Given the description of an element on the screen output the (x, y) to click on. 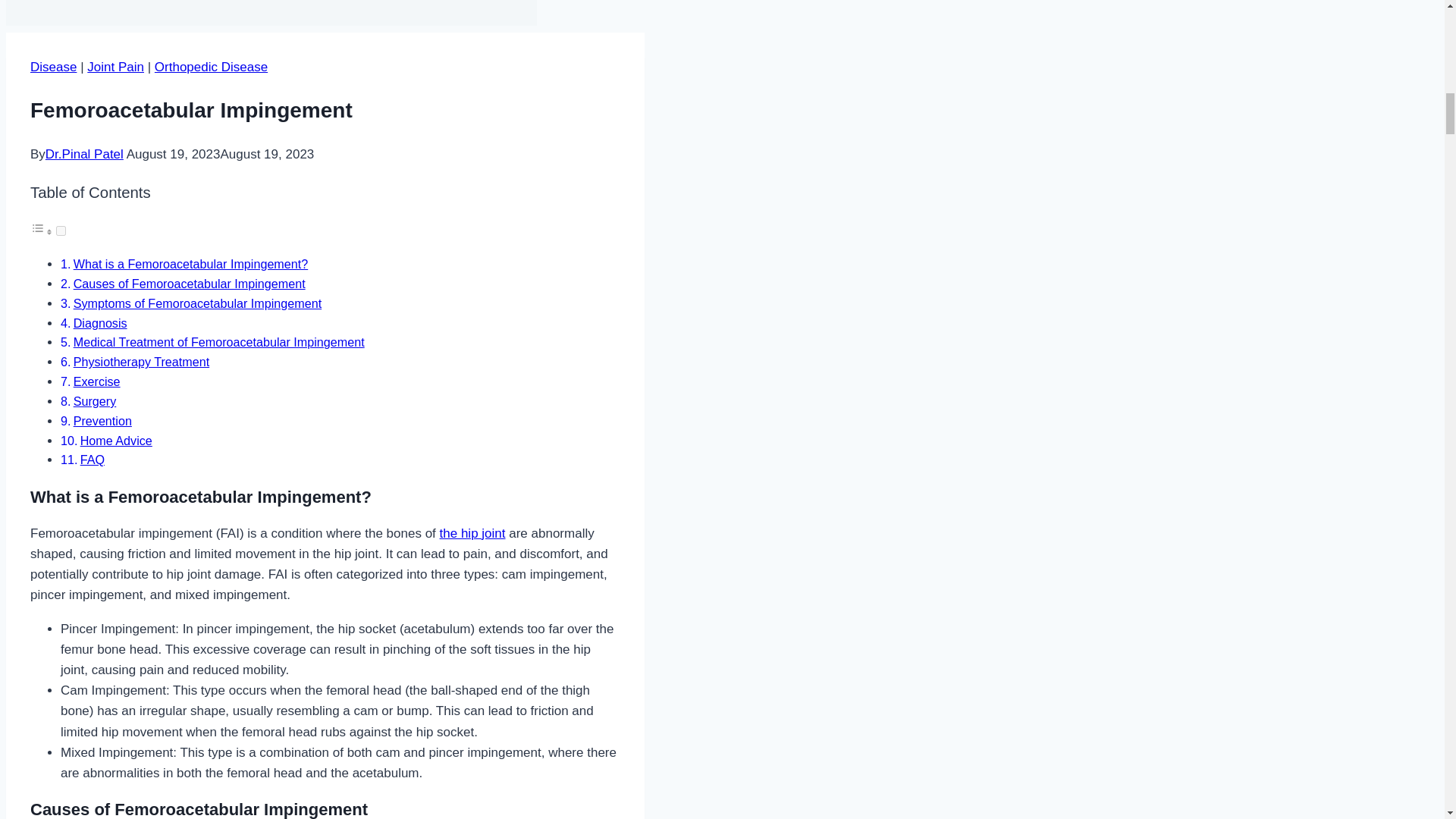
Surgery (95, 400)
What is a Femoroacetabular Impingement? (191, 264)
FAQ (92, 459)
Diagnosis (101, 323)
Symptoms of Femoroacetabular Impingement (197, 303)
Orthopedic Disease (210, 66)
Home Advice (116, 440)
Causes of Femoroacetabular Impingement (189, 283)
Causes of Femoroacetabular Impingement (189, 283)
Symptoms of Femoroacetabular Impingement (197, 303)
Dr.Pinal Patel (84, 154)
Medical Treatment of Femoroacetabular Impingement (219, 341)
Joint Pain (115, 66)
Disease (53, 66)
What is a Femoroacetabular Impingement? (191, 264)
